Given the description of an element on the screen output the (x, y) to click on. 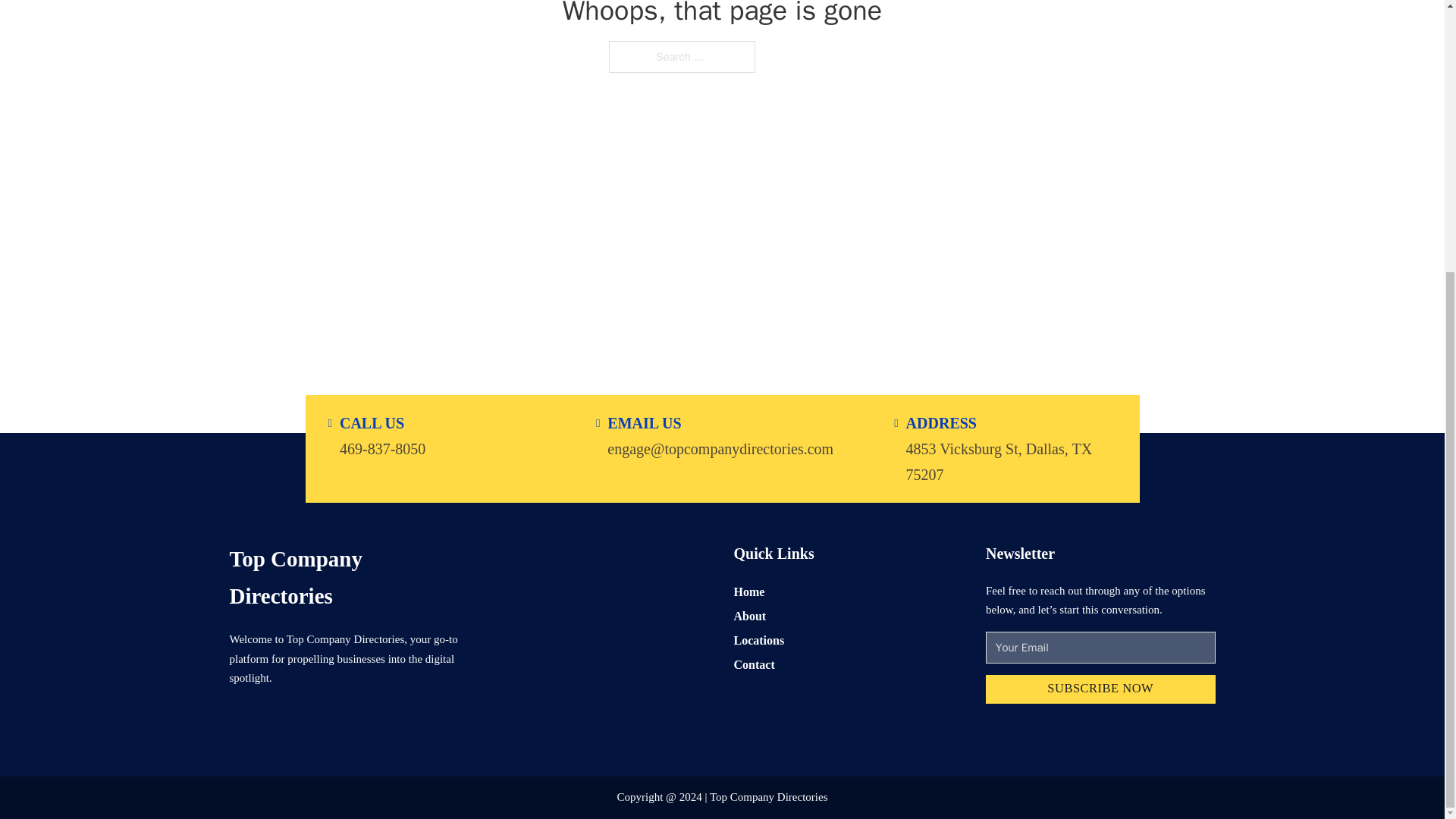
Top Company Directories (343, 577)
Home (749, 590)
Contact (753, 664)
469-837-8050 (382, 447)
Locations (758, 639)
SUBSCRIBE NOW (1100, 689)
About (750, 616)
